Given the description of an element on the screen output the (x, y) to click on. 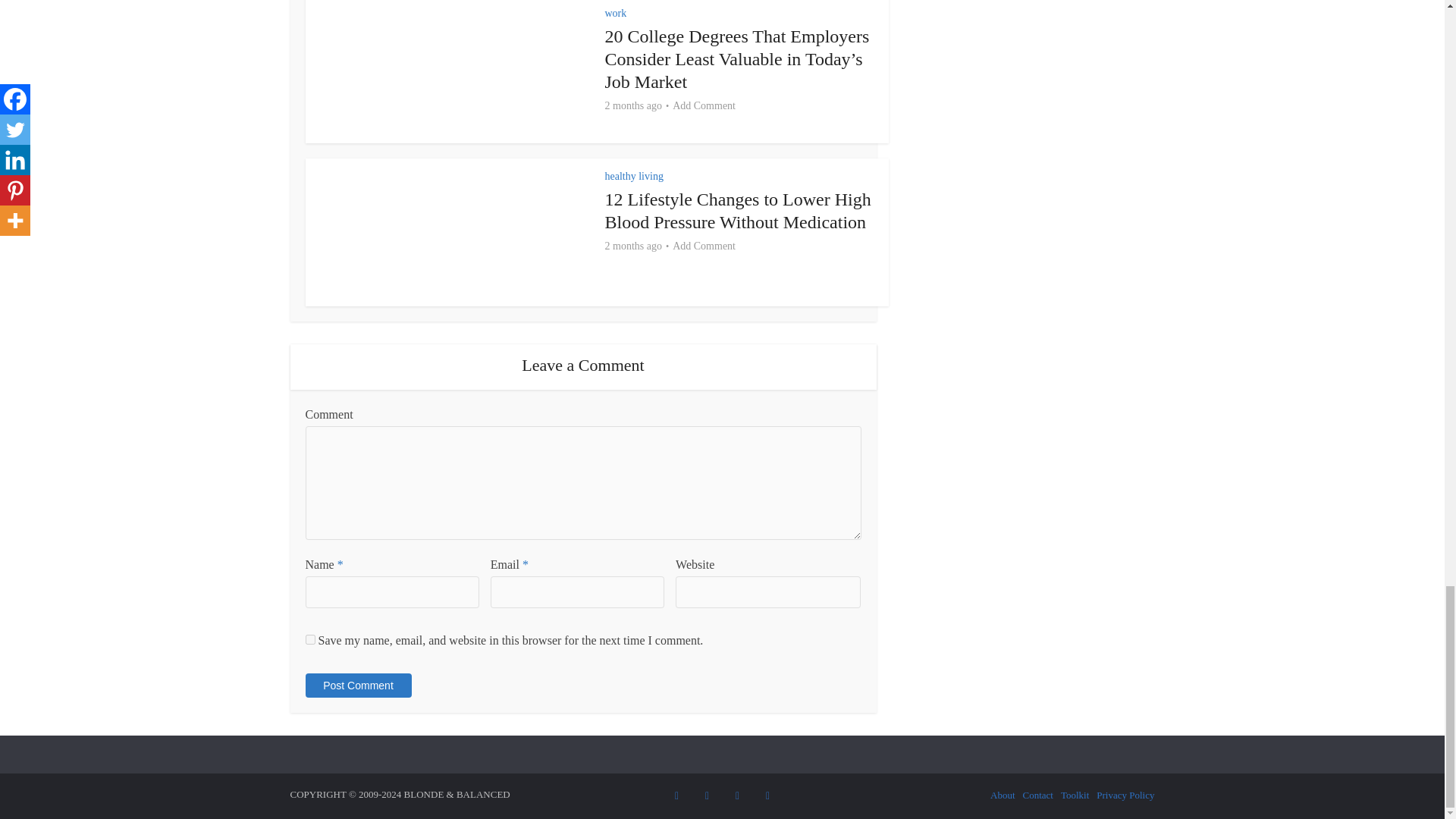
yes (309, 639)
Post Comment (357, 685)
